Given the description of an element on the screen output the (x, y) to click on. 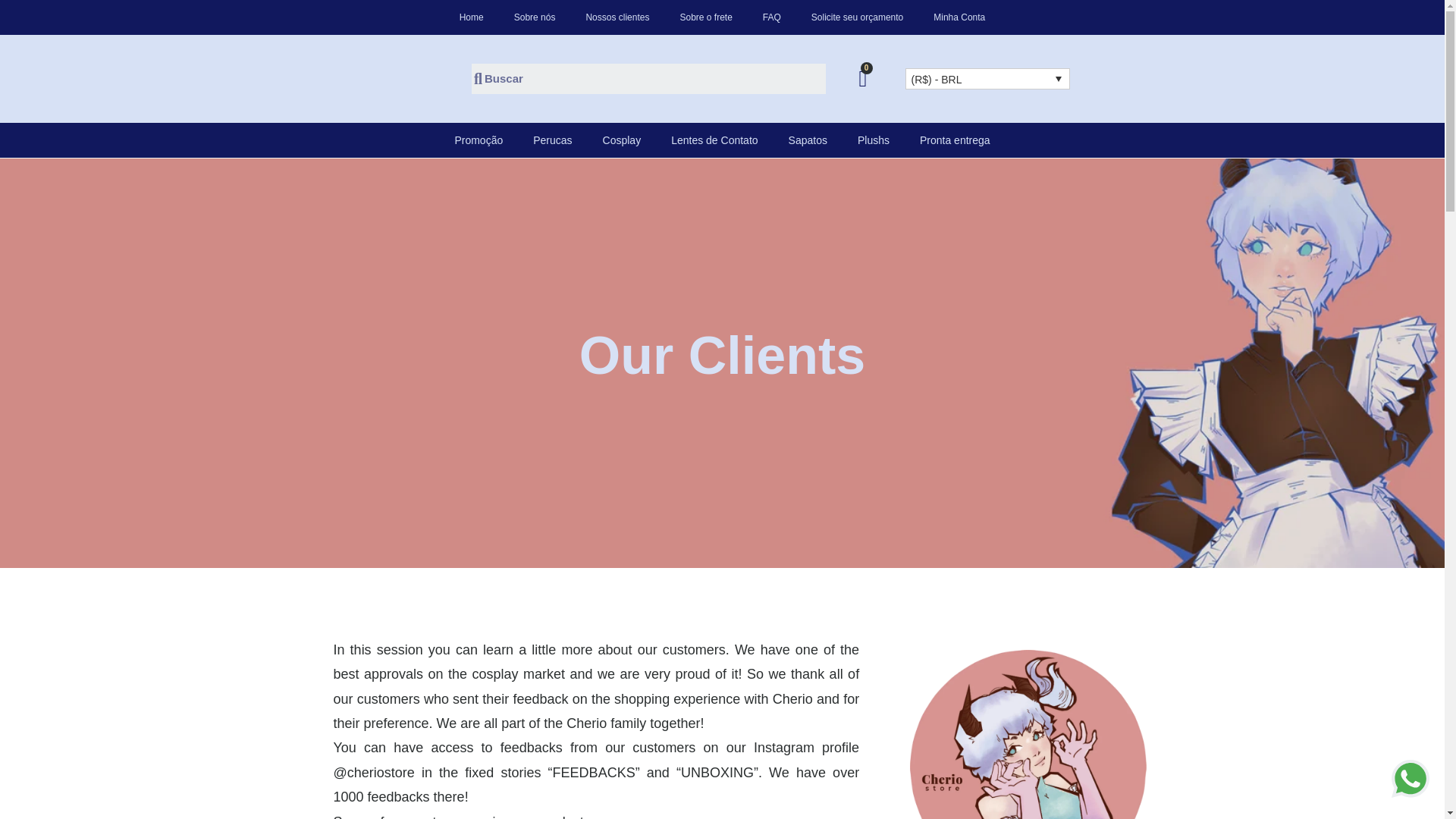
Minha Conta (959, 17)
Cosplay (622, 140)
FAQ (772, 17)
Home (471, 17)
Lentes de Contato (714, 140)
Search (653, 78)
Perucas (552, 140)
Nossos clientes (616, 17)
0 (863, 78)
Sobre o frete (704, 17)
